Given the description of an element on the screen output the (x, y) to click on. 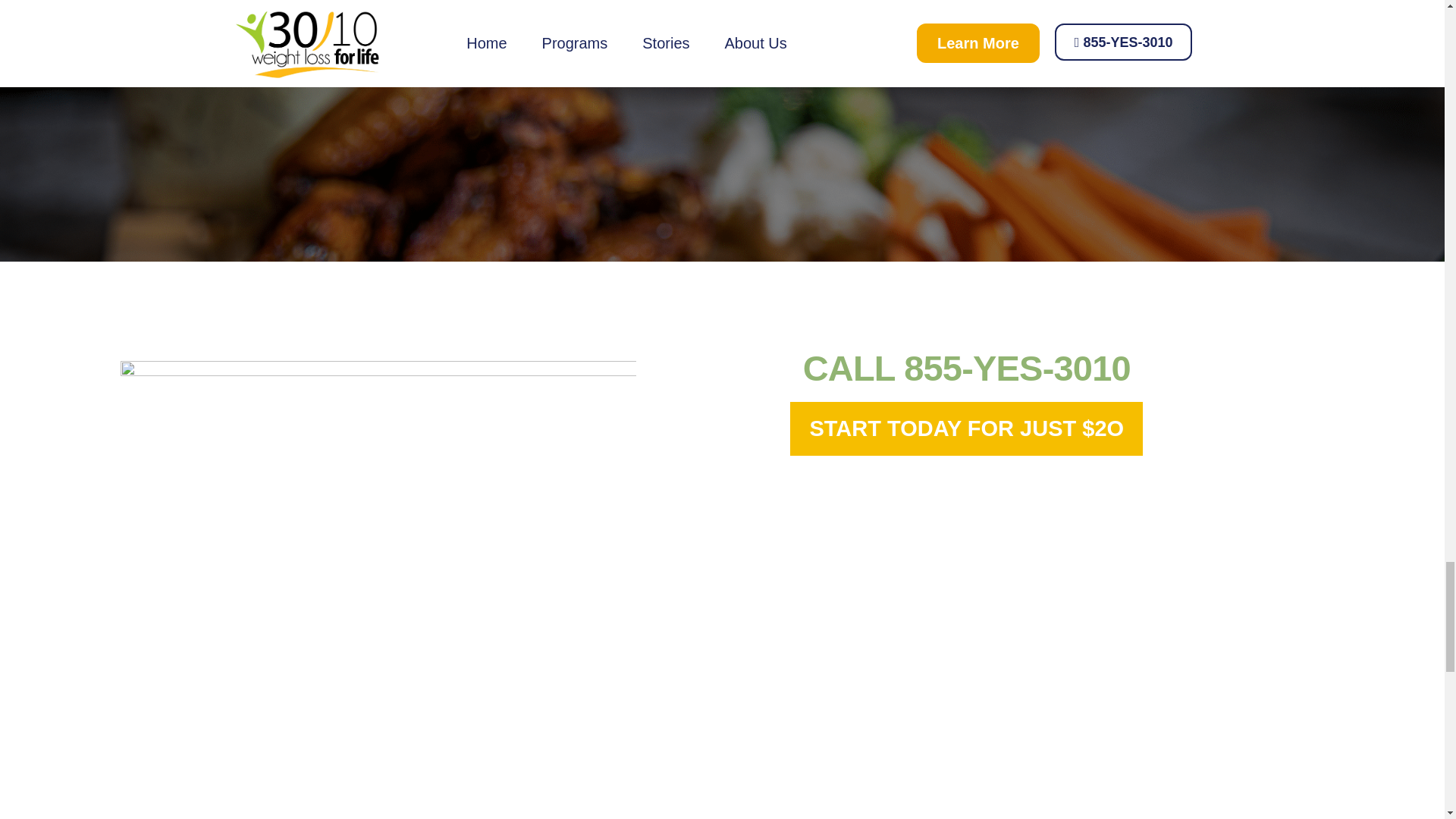
CALL 855-YES-3010 (967, 368)
